Given the description of an element on the screen output the (x, y) to click on. 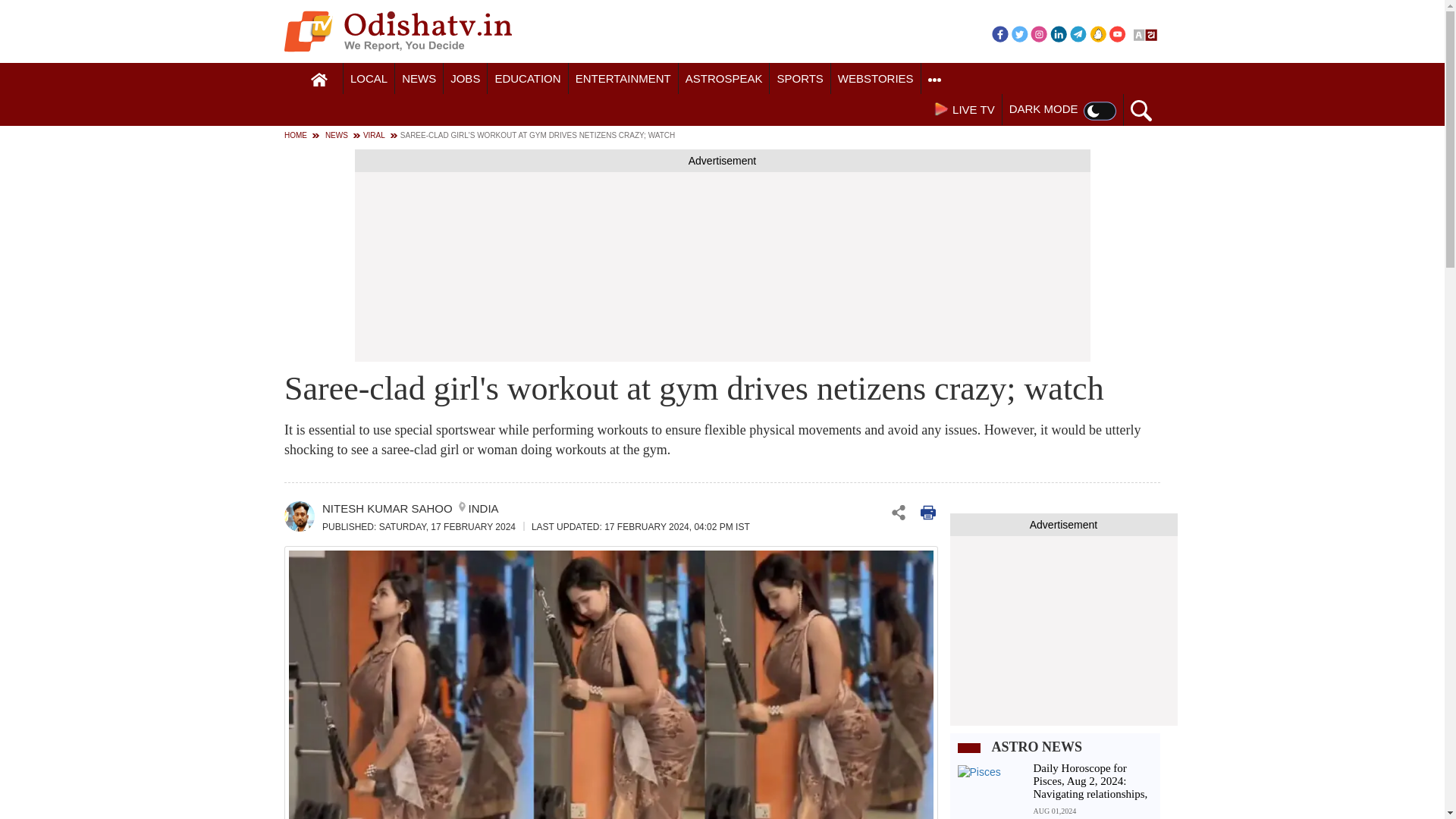
Youtube (1117, 33)
Facebook (1000, 33)
EDUCATION (527, 78)
ENTERTAINMENT (623, 78)
Koo (1097, 33)
Instagram (1038, 33)
News (418, 78)
NEWS (418, 78)
Twitter (1019, 33)
LinkedIn (1058, 33)
Home Icon (319, 79)
JOBS (465, 78)
OdishaTV (397, 31)
LOCAL (368, 78)
Odisha (368, 78)
